Given the description of an element on the screen output the (x, y) to click on. 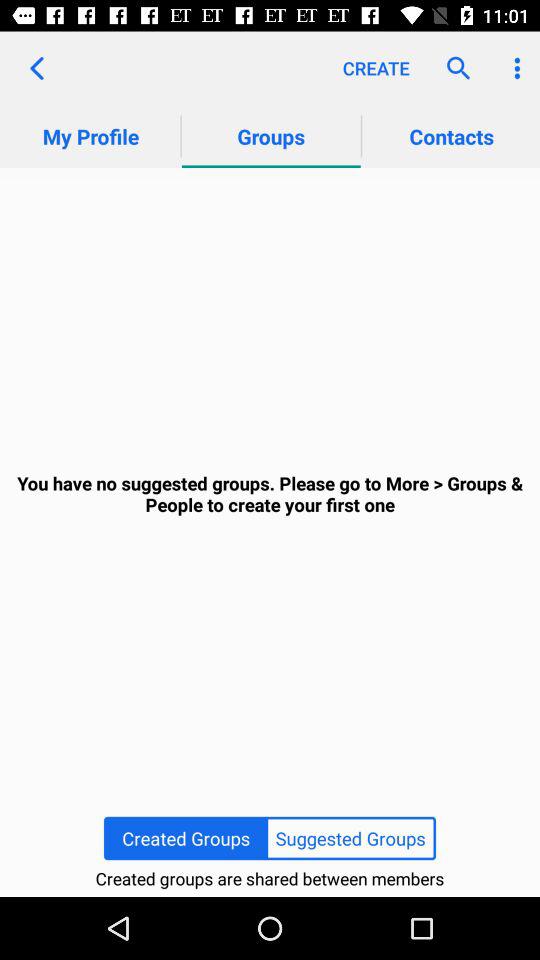
launch app above contacts item (453, 67)
